Given the description of an element on the screen output the (x, y) to click on. 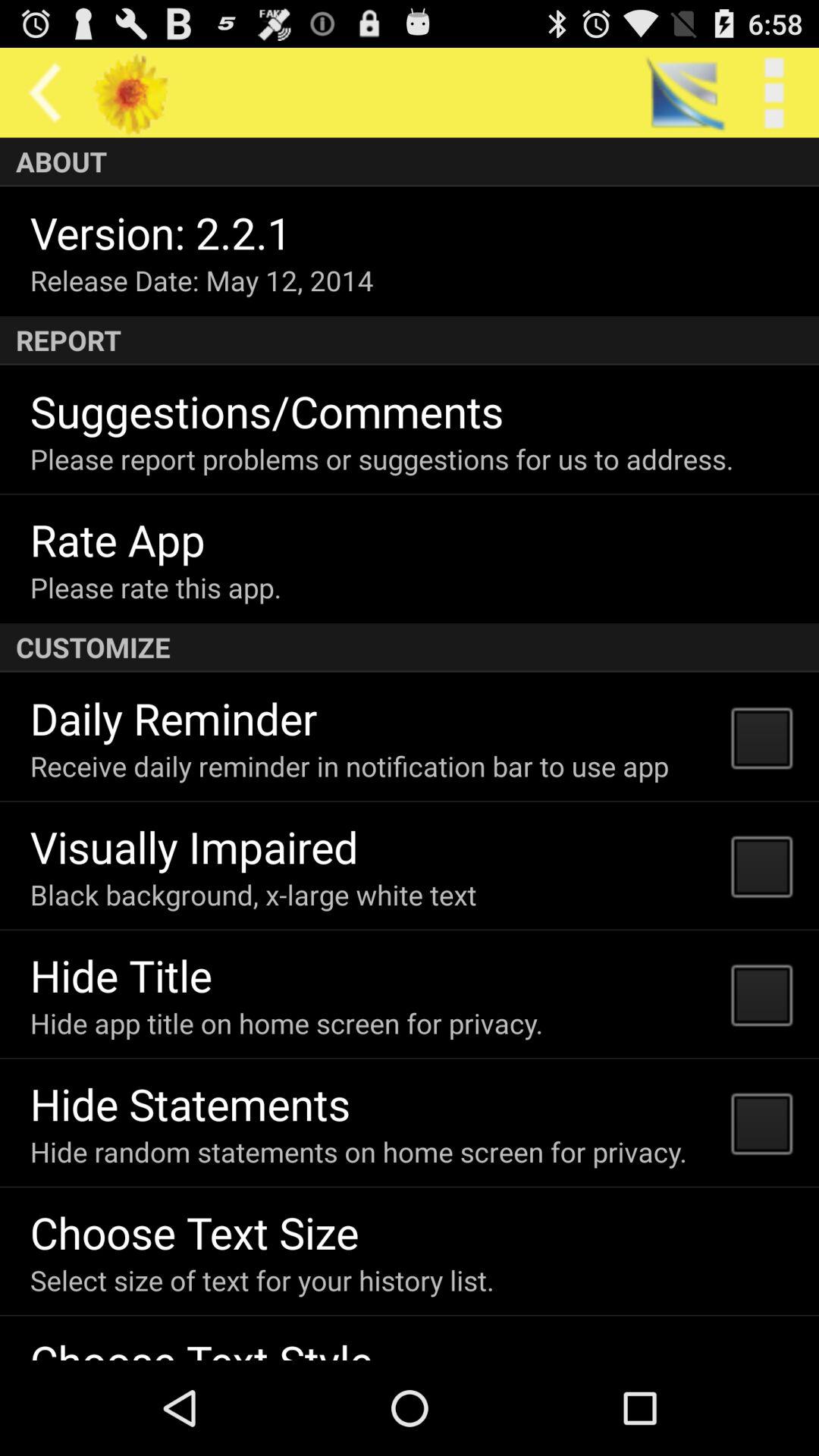
open the about app (409, 161)
